Given the description of an element on the screen output the (x, y) to click on. 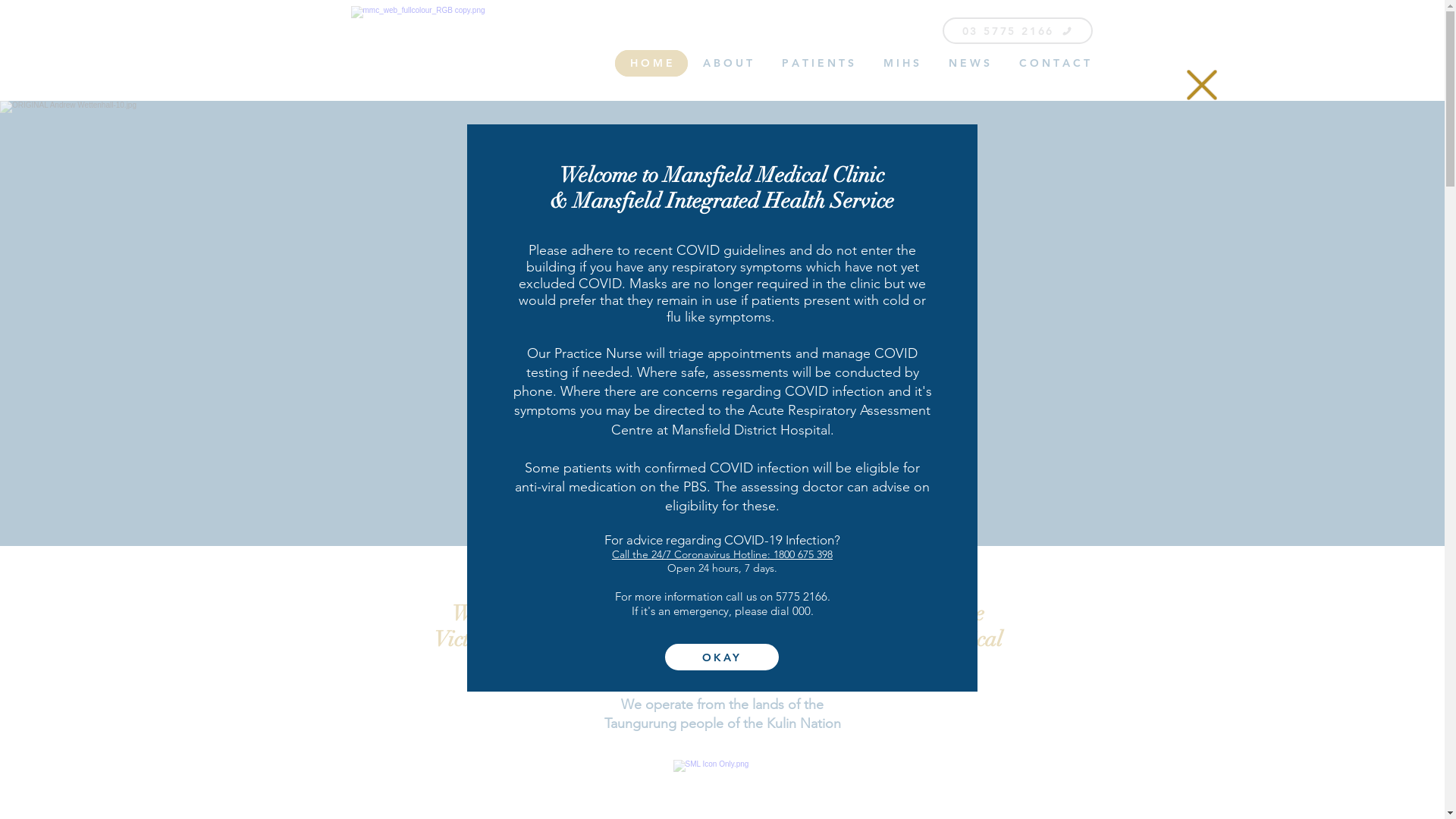
H O M E Element type: text (650, 63)
Back to site Element type: hover (1201, 84)
M I H S Element type: text (901, 63)
N E W S Element type: text (969, 63)
C O N T A C T Element type: text (1054, 63)
P A T I E N T S Element type: text (818, 63)
A B O U T Element type: text (726, 63)
Call the 24/7 Coronavirus Hotline: 1800 675 398 Element type: text (721, 554)
OKAY Element type: text (721, 656)
03 5775 2166 Element type: text (1016, 30)
